Given the description of an element on the screen output the (x, y) to click on. 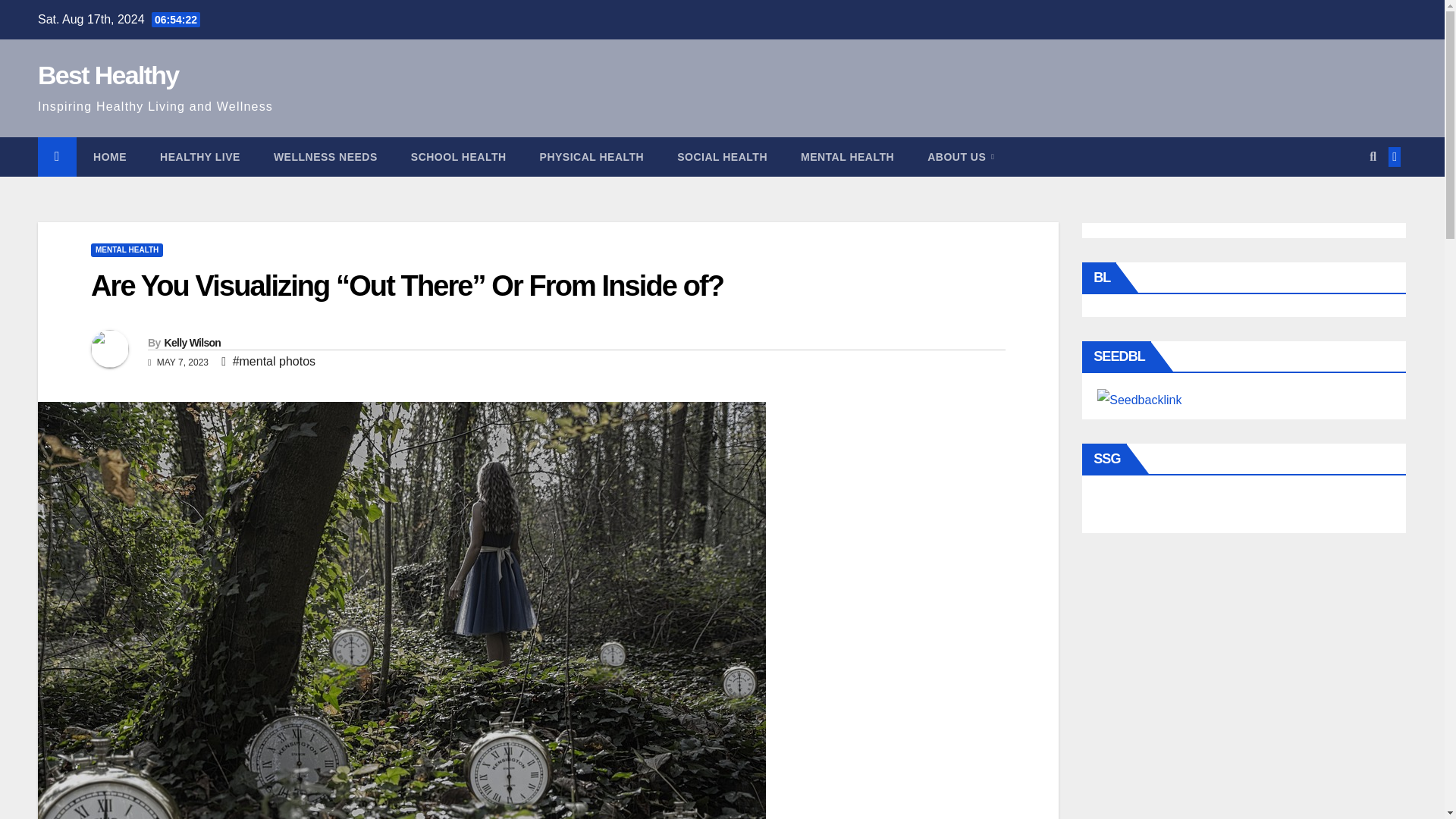
About Us (960, 156)
WELLNESS NEEDS (325, 156)
ABOUT US (960, 156)
MENTAL HEALTH (126, 250)
Home (109, 156)
HOME (109, 156)
SCHOOL HEALTH (458, 156)
Physical Health (591, 156)
MENTAL HEALTH (847, 156)
Social Health (722, 156)
